Given the description of an element on the screen output the (x, y) to click on. 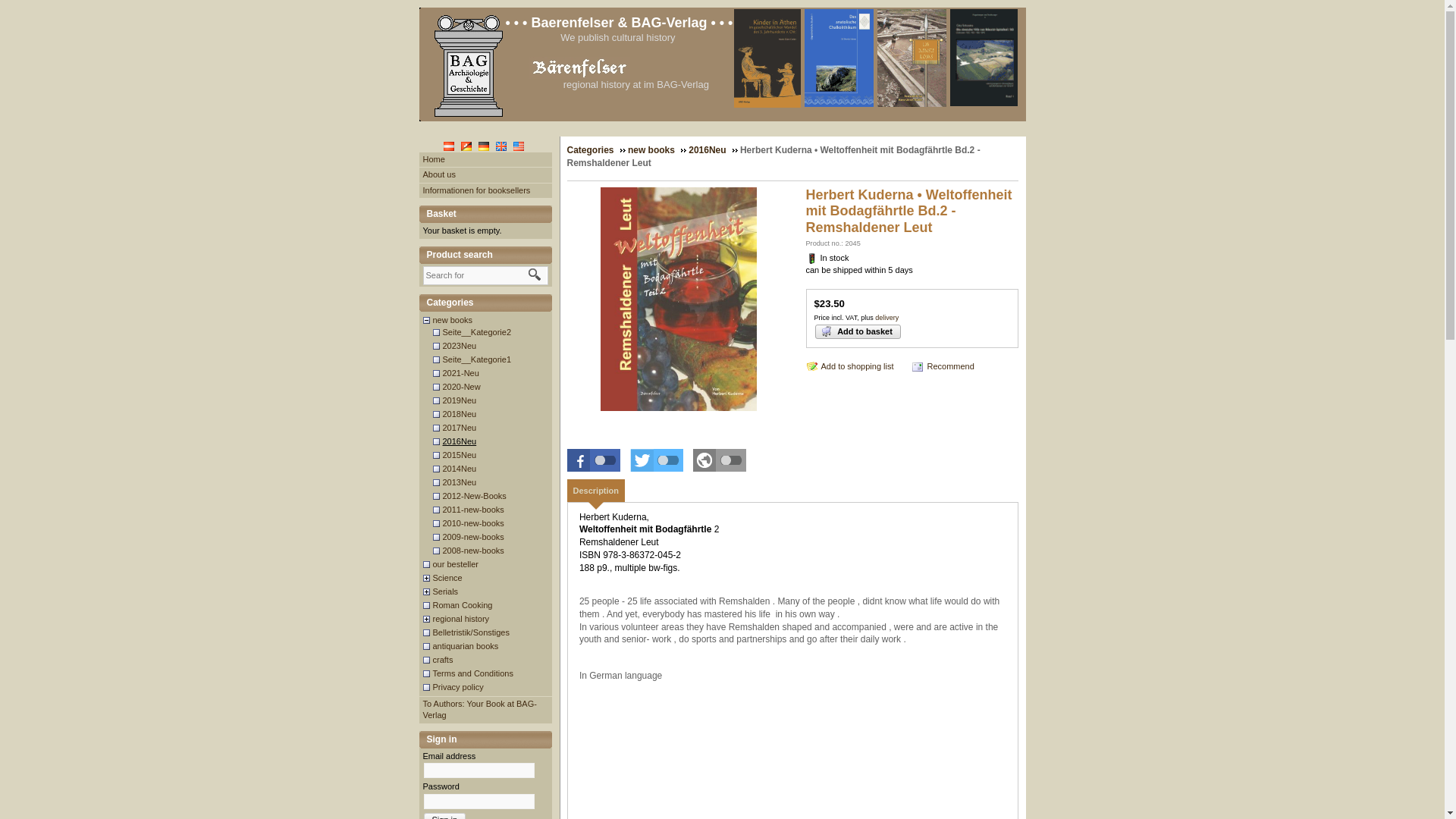
Start search (534, 274)
Serials (446, 591)
About us (439, 174)
Informationen for booksellers (477, 189)
Home (434, 158)
2018Neu (460, 413)
2014Neu (460, 468)
Privacy policy (458, 686)
2015Neu (460, 454)
Categories (485, 303)
2008-new-books (473, 550)
Add to shopping list (849, 366)
Roman Cooking (462, 604)
2009-new-books (473, 536)
2011-new-books (473, 509)
